Given the description of an element on the screen output the (x, y) to click on. 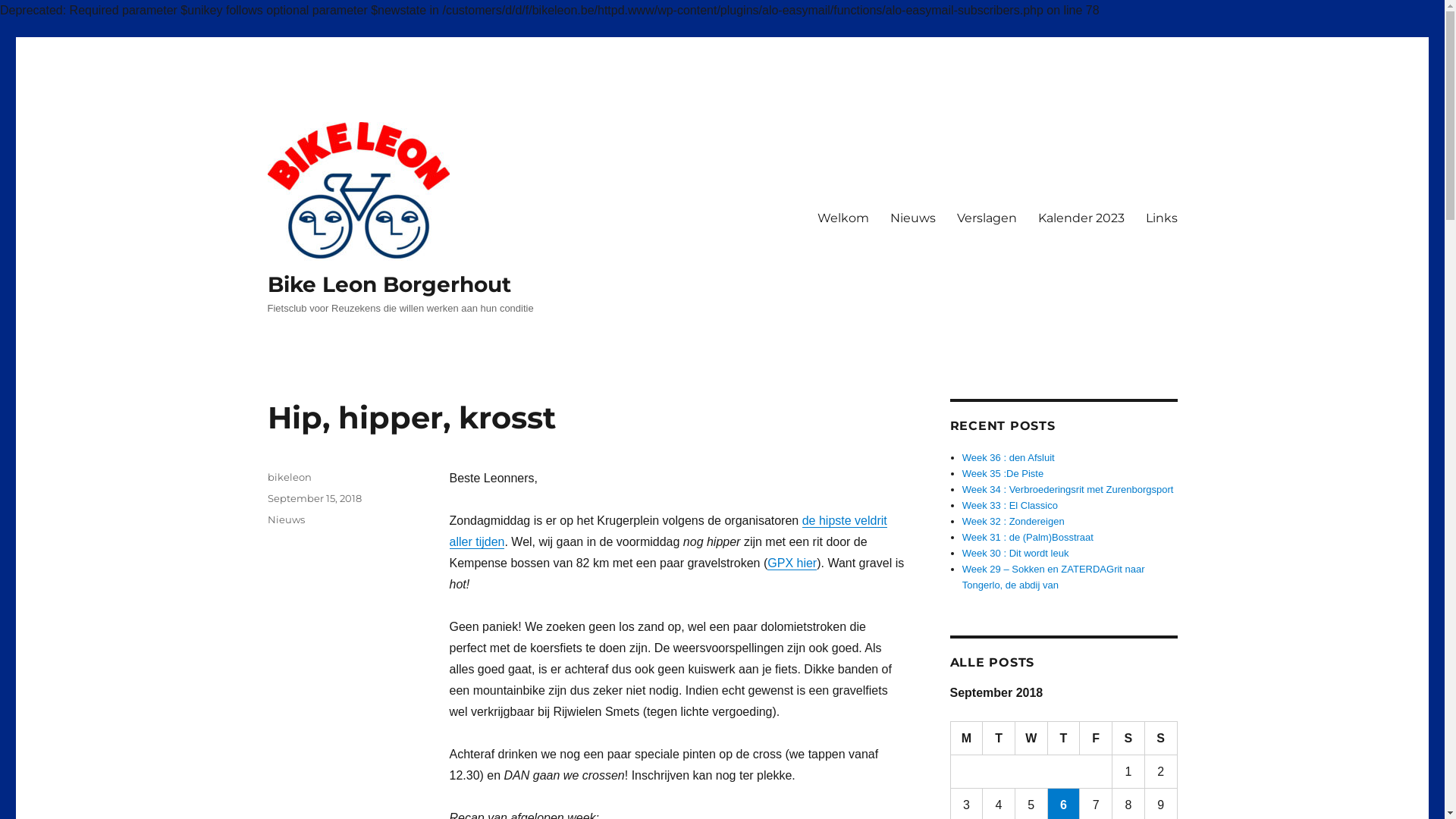
de hipste veldrit aller tijden Element type: text (667, 531)
Week 31 : de (Palm)Bosstraat Element type: text (1027, 536)
Welkom Element type: text (842, 217)
Nieuws Element type: text (285, 519)
GPX hier Element type: text (791, 562)
Verslagen Element type: text (986, 217)
Nieuws Element type: text (912, 217)
Week 32 : Zondereigen Element type: text (1013, 521)
Week 36 : den Afsluit Element type: text (1008, 457)
Links Element type: text (1160, 217)
Week 34 : Verbroederingsrit met Zurenborgsport Element type: text (1067, 489)
bikeleon Element type: text (288, 476)
Kalender 2023 Element type: text (1080, 217)
Bike Leon Borgerhout Element type: text (388, 284)
Week 33 : El Classico Element type: text (1009, 505)
Week 30 : Dit wordt leuk Element type: text (1015, 552)
Week 35 :De Piste Element type: text (1002, 473)
September 15, 2018 Element type: text (313, 498)
